Given the description of an element on the screen output the (x, y) to click on. 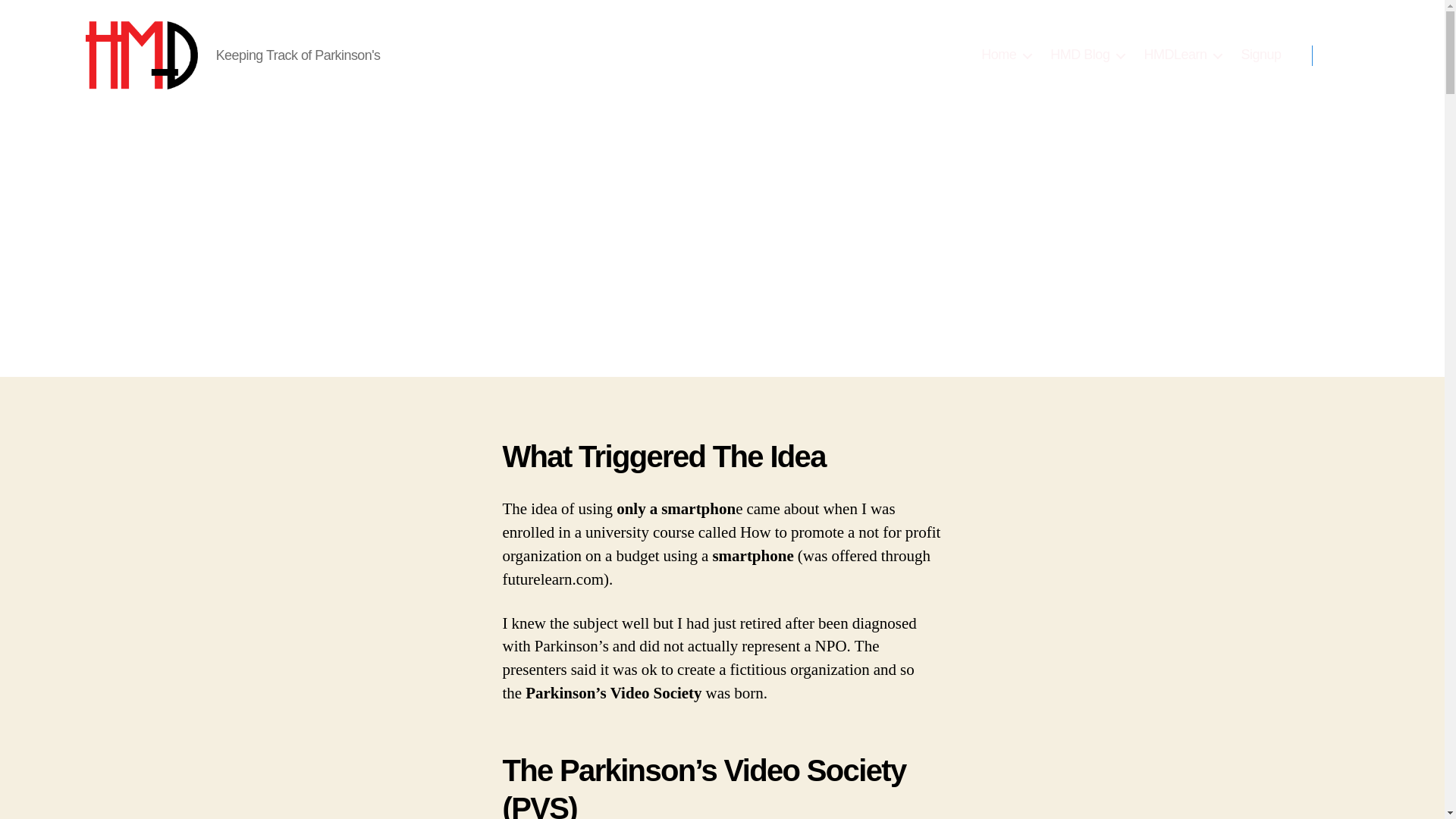
HMD Blog (1086, 54)
Home (1005, 54)
HMDLearn (1181, 54)
